Given the description of an element on the screen output the (x, y) to click on. 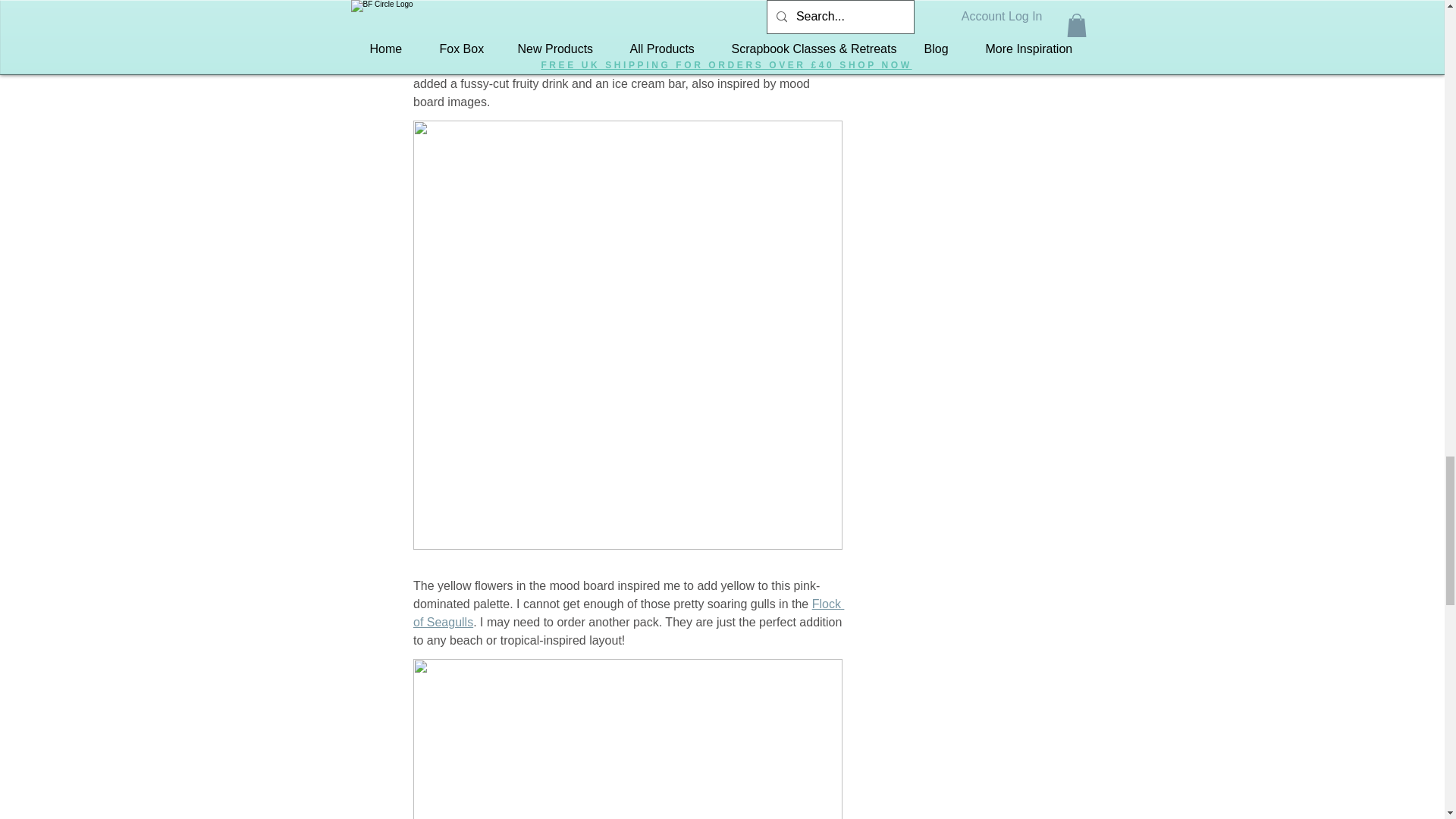
Flock of Seagulls (627, 612)
